Given the description of an element on the screen output the (x, y) to click on. 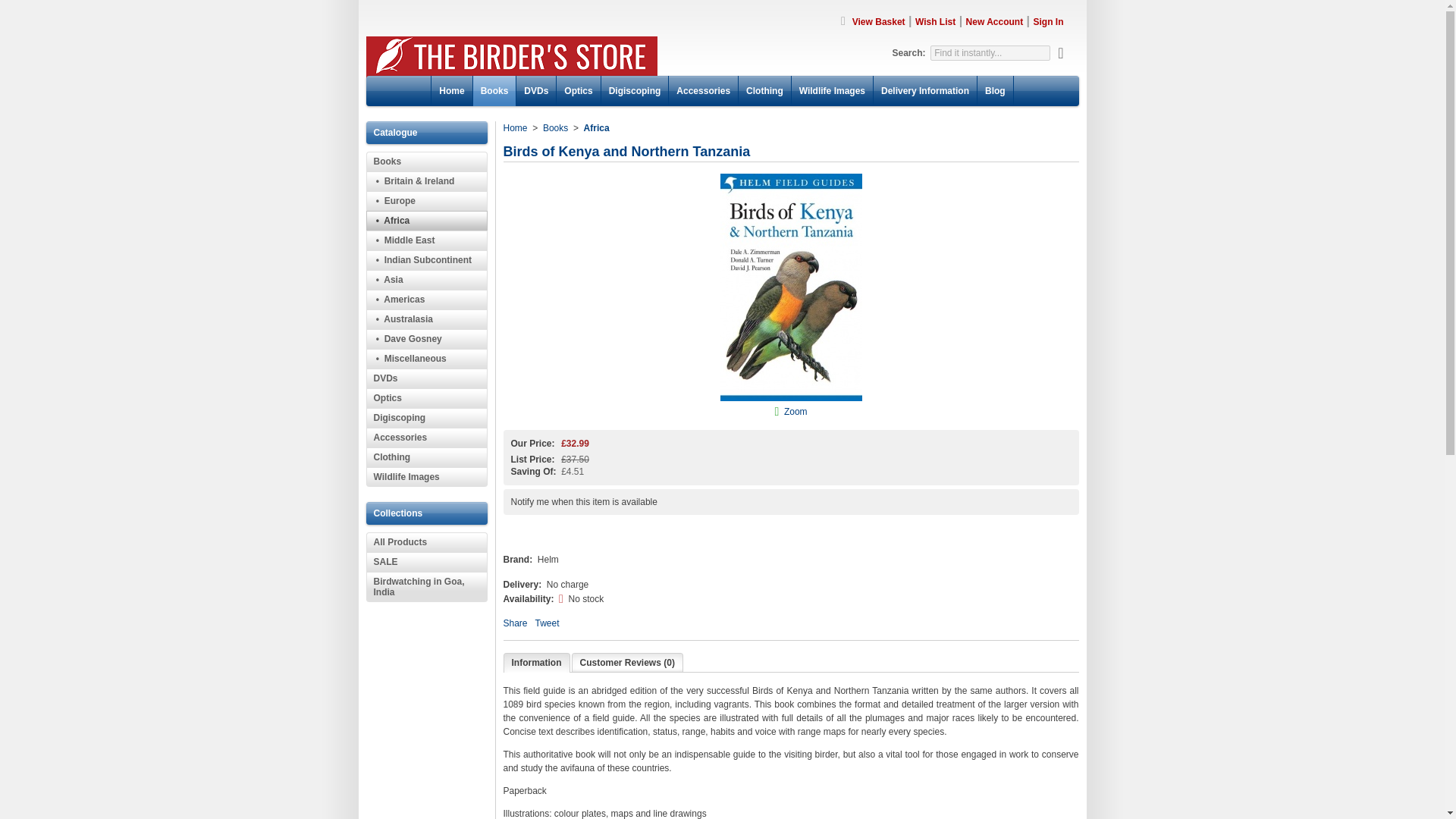
Birdwatching in Goa, India (425, 586)
All Products (425, 542)
DVDs (425, 378)
Birds of Kenya and Northern Tanzania (796, 411)
Information (536, 662)
Wildlife Images (831, 90)
Books (425, 161)
Accessories (425, 437)
PayPal Message 1 (790, 534)
Tweet (547, 623)
